Given the description of an element on the screen output the (x, y) to click on. 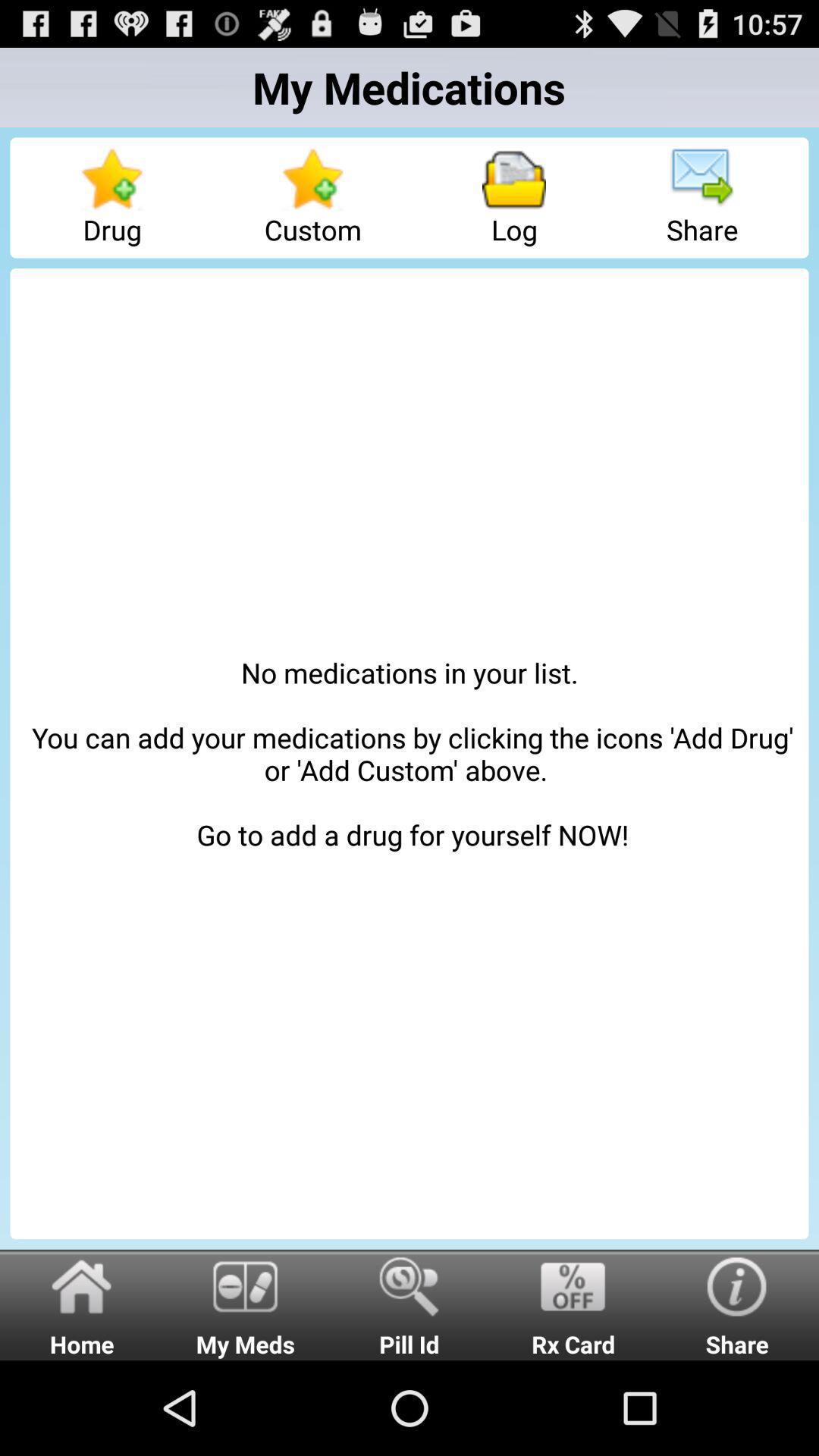
select item next to pill id icon (573, 1304)
